Given the description of an element on the screen output the (x, y) to click on. 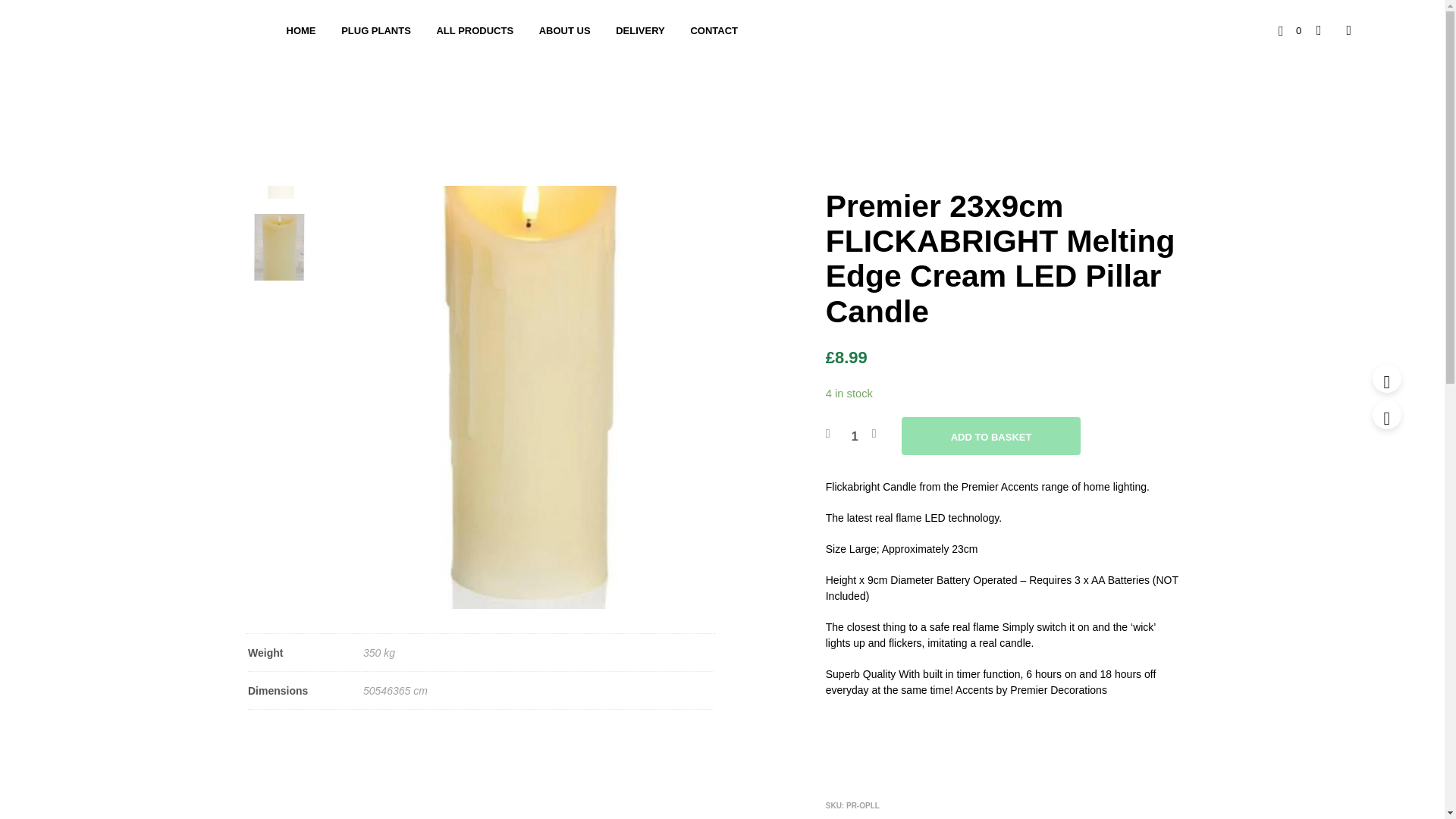
HOME (300, 30)
CHRISTMAS (1007, 818)
PayPal (1003, 771)
0 (1289, 30)
1 (855, 435)
PLUG PLANTS (376, 30)
HOME (839, 137)
DELIVERY (640, 30)
CHRISTMAS (883, 137)
EVERYTHING ELSE! (1071, 818)
CONTACT (713, 30)
Qty (855, 435)
ALL PRODUCTS (474, 30)
PayPal Message 1 (1003, 727)
ADD TO BASKET (991, 435)
